Given the description of an element on the screen output the (x, y) to click on. 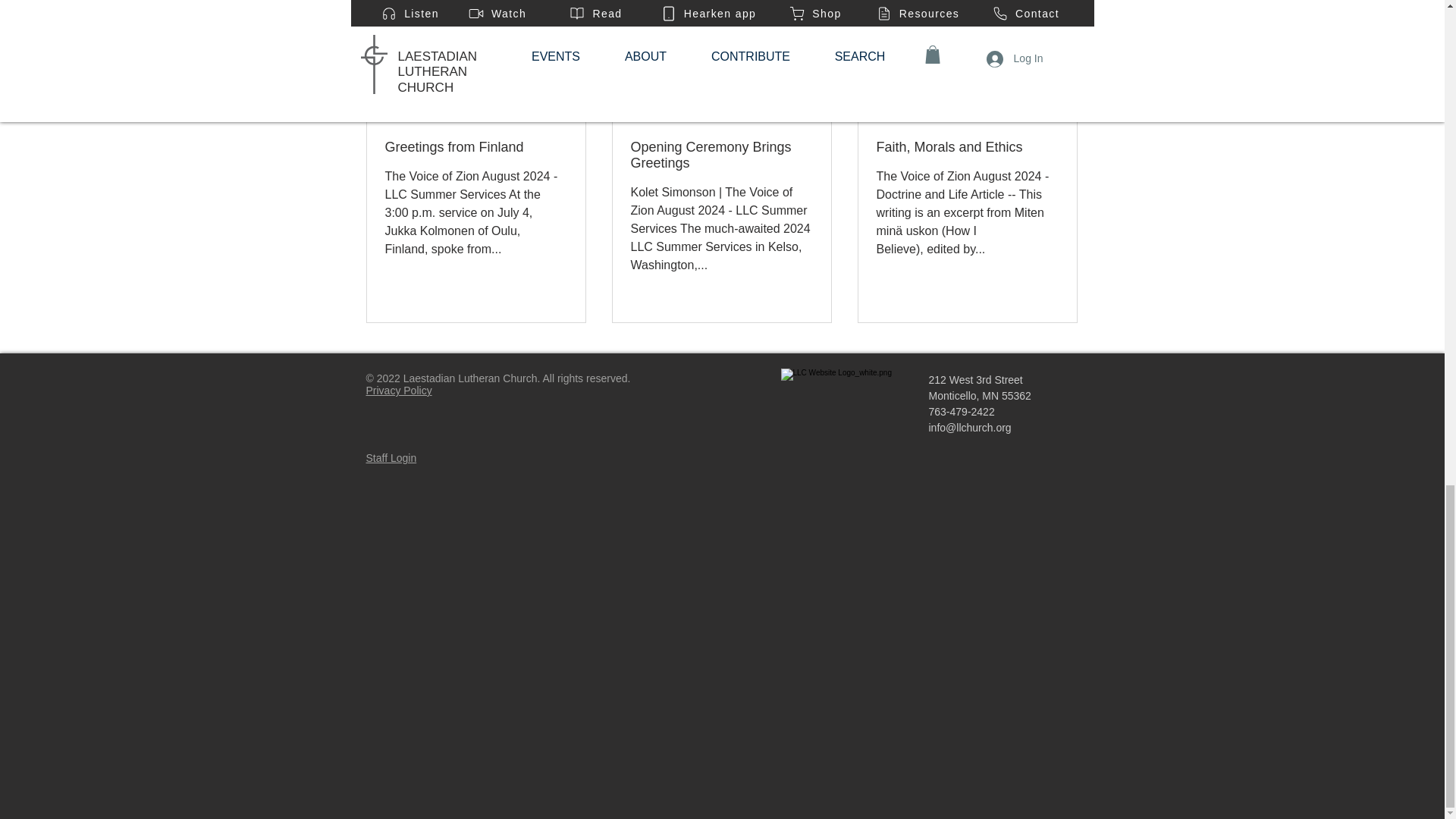
Faith, Morals and Ethics (967, 147)
See All (1061, 94)
Privacy Policy (397, 390)
Greetings from Finland (476, 147)
Opening Ceremony Brings Greetings (721, 155)
Staff Login (390, 458)
Voice of Zion Featured Articles (931, 1)
